Given the description of an element on the screen output the (x, y) to click on. 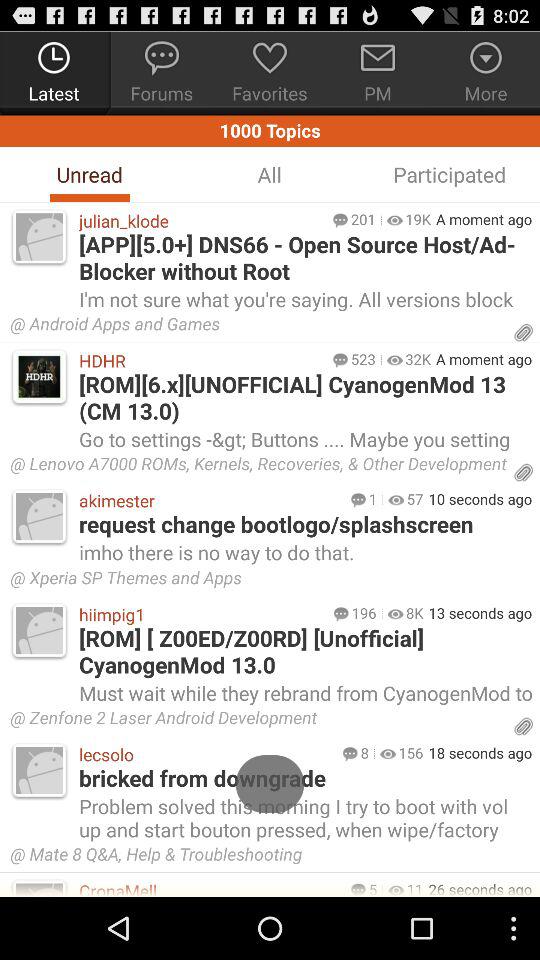
scroll until the 32k item (417, 359)
